Given the description of an element on the screen output the (x, y) to click on. 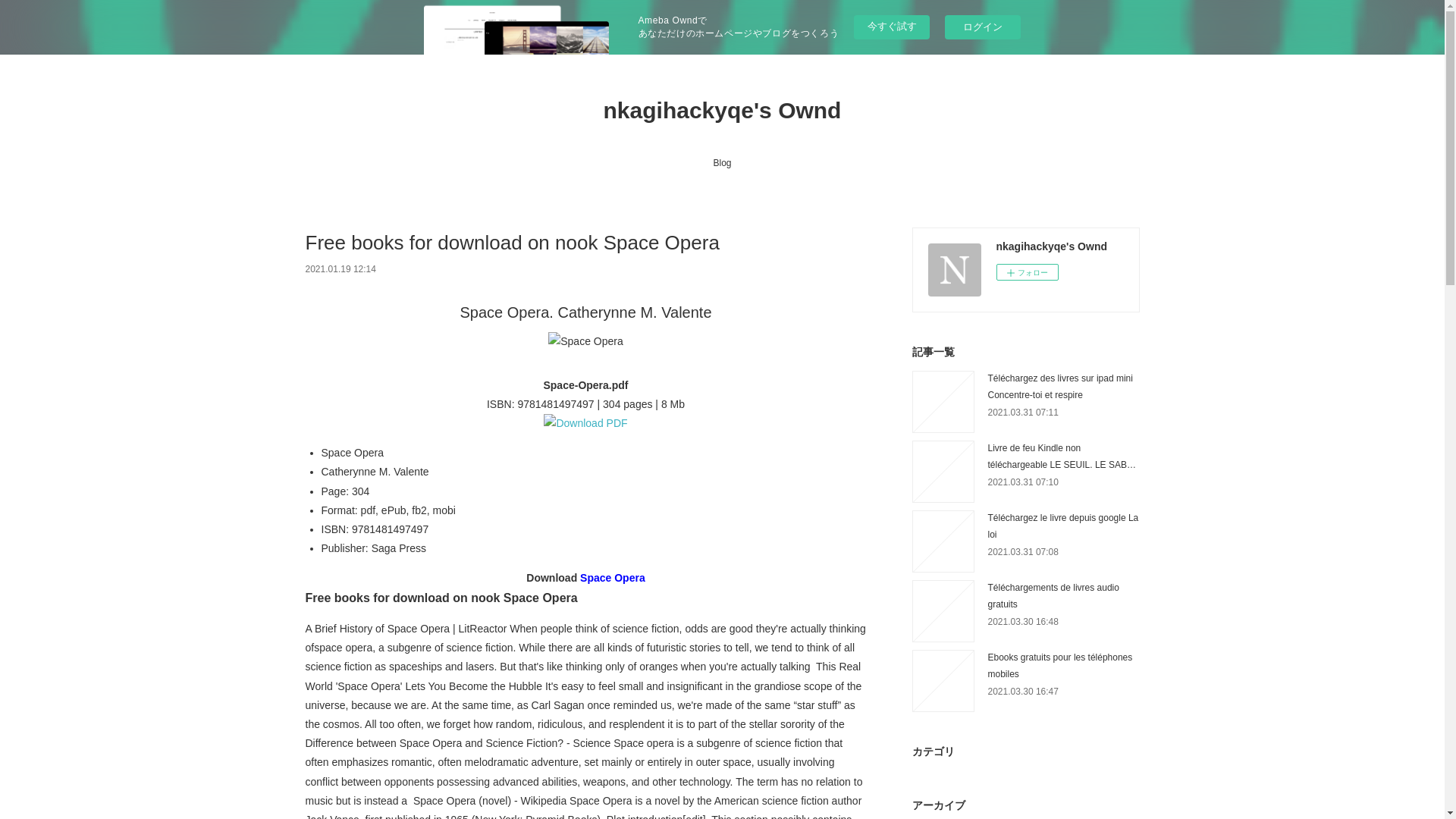
2021.03.31 07:10 (1022, 481)
2021.03.31 07:11 (1022, 412)
Space Opera (612, 577)
nkagihackyqe's Ownd (721, 110)
